Given the description of an element on the screen output the (x, y) to click on. 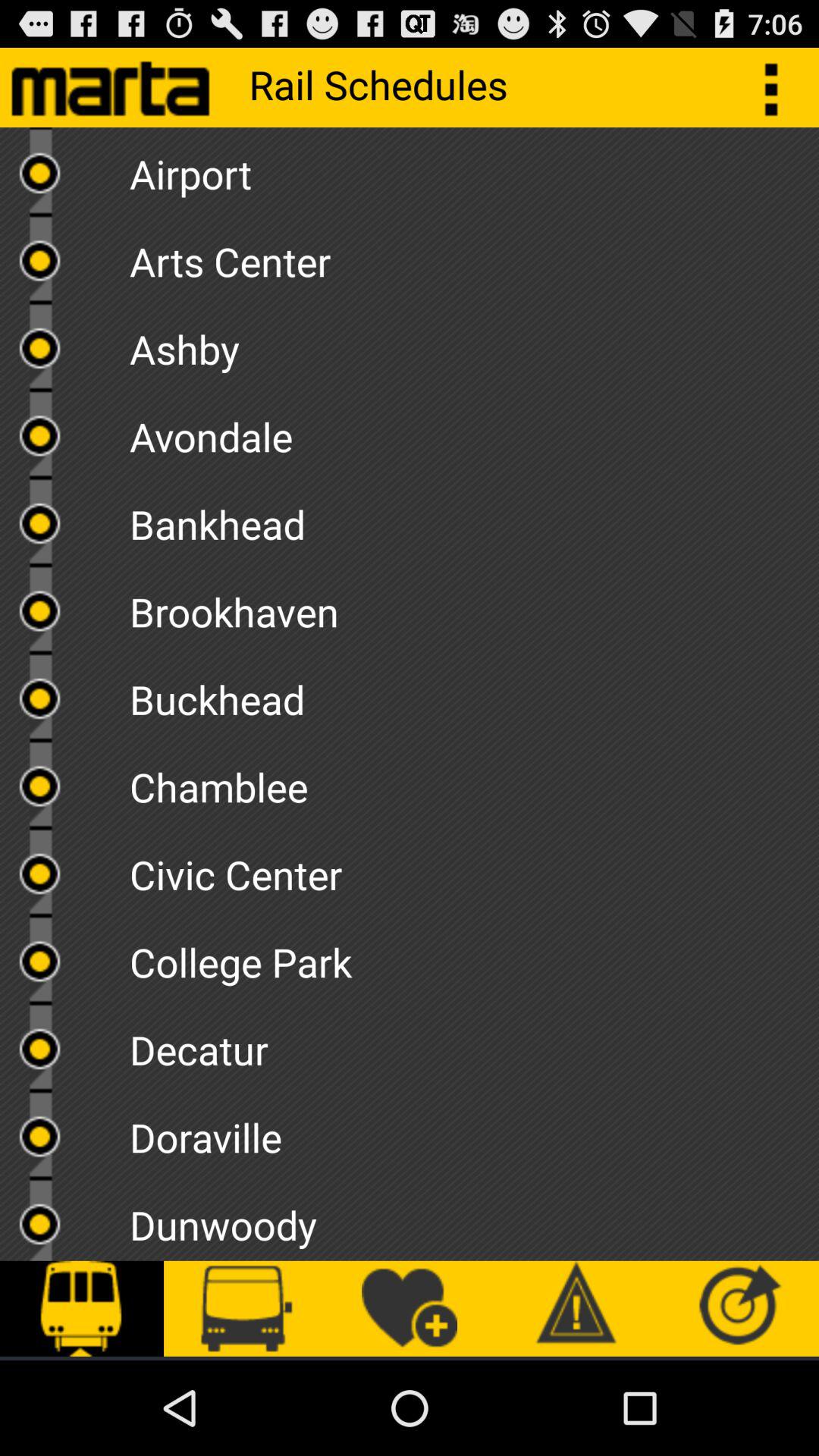
open icon below the ashby icon (474, 431)
